Given the description of an element on the screen output the (x, y) to click on. 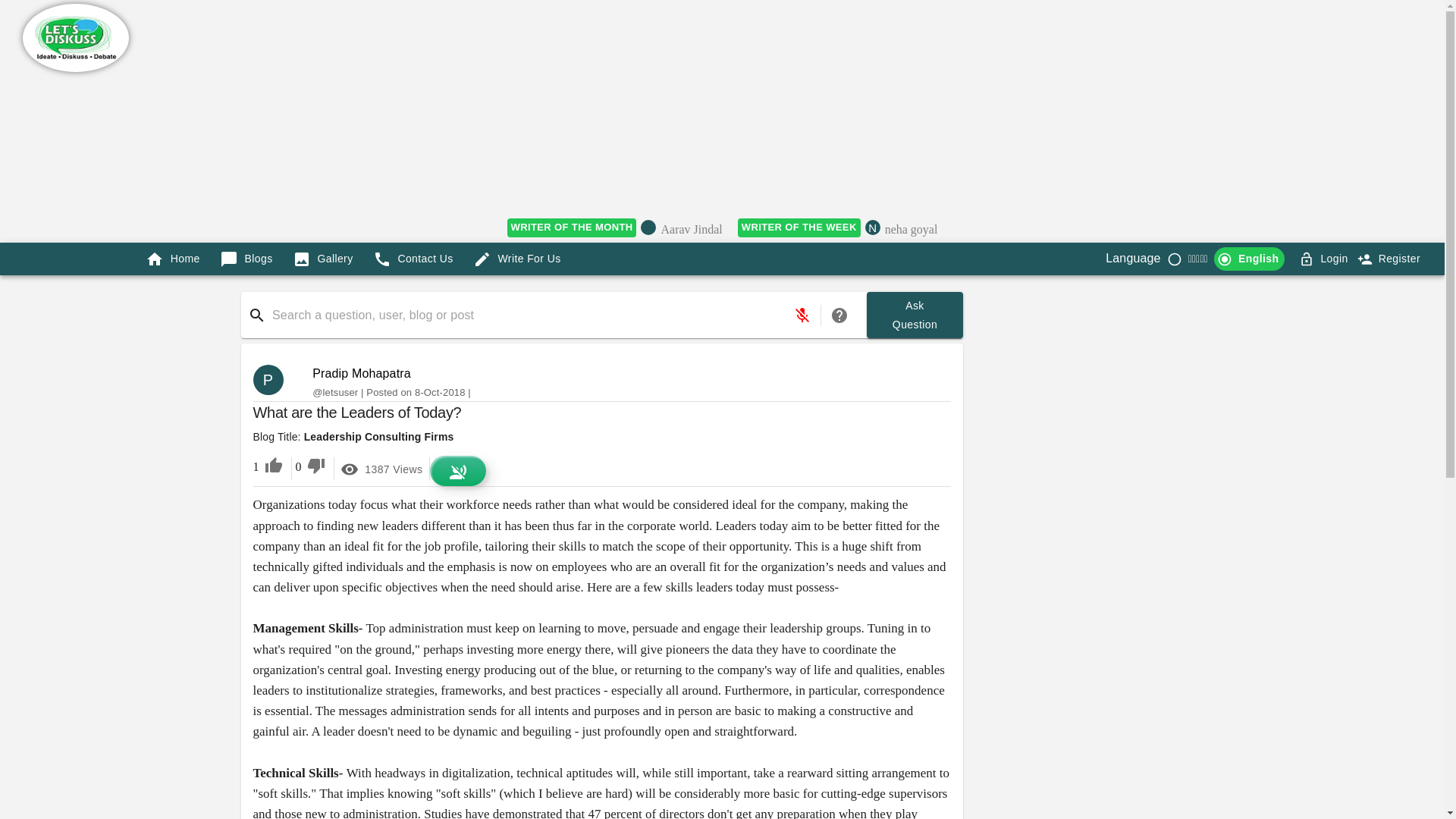
Login (914, 314)
Pradip Mohapatra (1334, 258)
WRITER OF THE MONTH (361, 373)
Official Letsdiskuss Logo (571, 227)
WRITER OF THE WEEK (75, 37)
Advertisement (799, 227)
 Blogs (274, 379)
Register (246, 258)
